Given the description of an element on the screen output the (x, y) to click on. 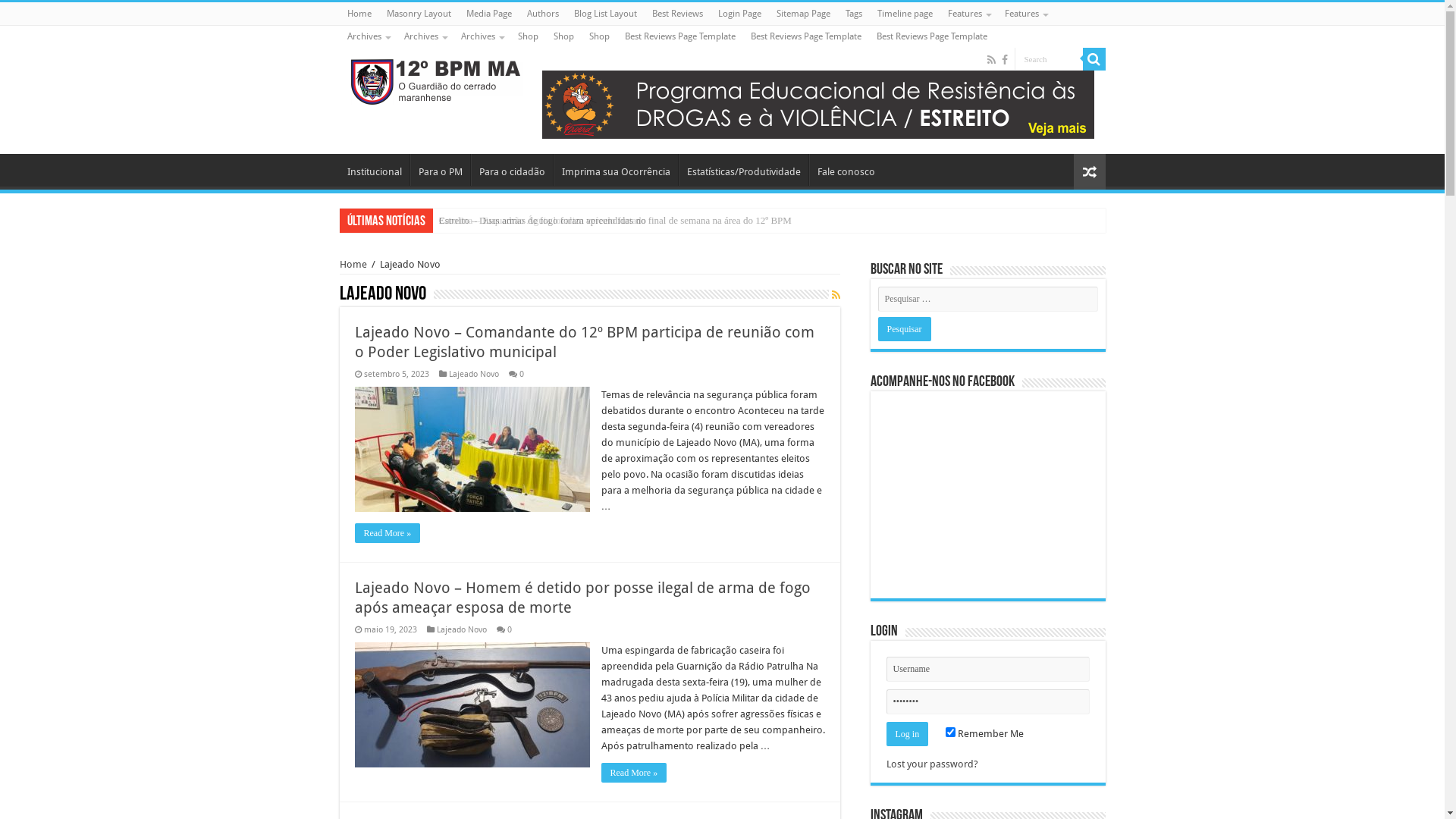
Institucional Element type: text (374, 169)
Best Reviews Page Template Element type: text (680, 36)
Shop Element type: text (527, 36)
Sitemap Page Element type: text (802, 13)
Home Element type: text (359, 13)
Rss Element type: hover (991, 59)
Facebook Element type: hover (1003, 59)
Best Reviews Page Template Element type: text (806, 36)
Pesquisar Element type: text (904, 328)
Timeline page Element type: text (904, 13)
Log in Element type: text (906, 733)
Username Element type: hover (986, 668)
0 Element type: text (508, 629)
Password Element type: hover (986, 701)
Archives Element type: text (423, 36)
Media Page Element type: text (488, 13)
Archives Element type: text (367, 36)
Shop Element type: text (563, 36)
Search Element type: text (1093, 58)
Best Reviews Element type: text (677, 13)
0 Element type: text (520, 374)
Lost your password? Element type: text (931, 763)
Tags Element type: text (853, 13)
Blog List Layout Element type: text (604, 13)
Shop Element type: text (598, 36)
Features Element type: text (968, 13)
Home Element type: text (353, 263)
Lajeado Novo Element type: text (461, 629)
Features Element type: text (1024, 13)
Masonry Layout Element type: text (418, 13)
Para o PM Element type: text (439, 169)
Archives Element type: text (481, 36)
Lajeado Novo Element type: text (473, 374)
Login Page Element type: text (738, 13)
Authors Element type: text (541, 13)
Search Element type: hover (1048, 58)
Best Reviews Page Template Element type: text (931, 36)
Fale conosco Element type: text (844, 169)
